Given the description of an element on the screen output the (x, y) to click on. 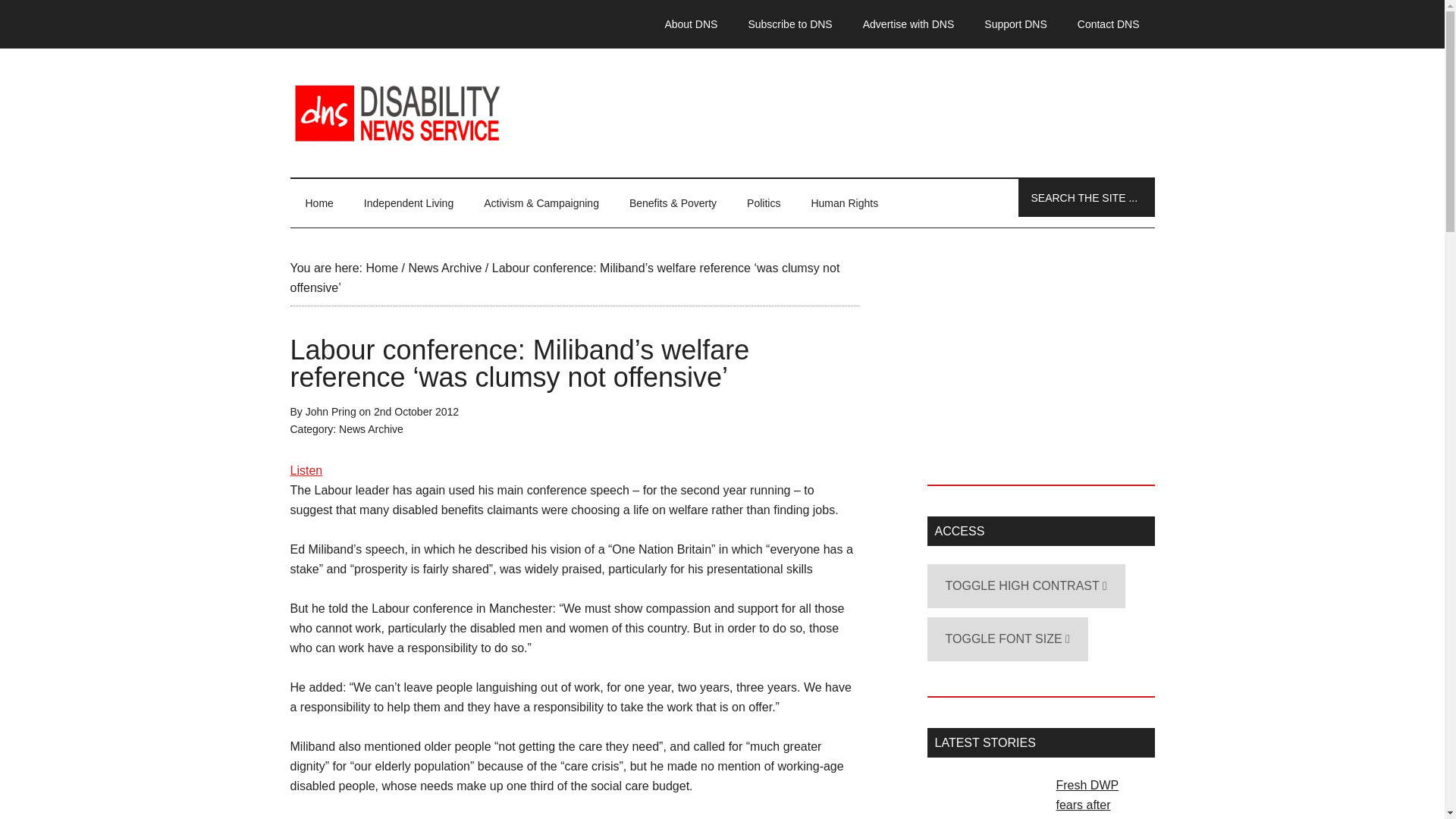
Subscribe to DNS (789, 24)
Advertise with DNS (908, 24)
Contact DNS (1108, 24)
News Archive (371, 428)
Home (381, 267)
John Pring (330, 411)
Disability News Service (721, 112)
About DNS (690, 24)
Home (318, 203)
Support DNS (1015, 24)
Human Rights (843, 203)
